Given the description of an element on the screen output the (x, y) to click on. 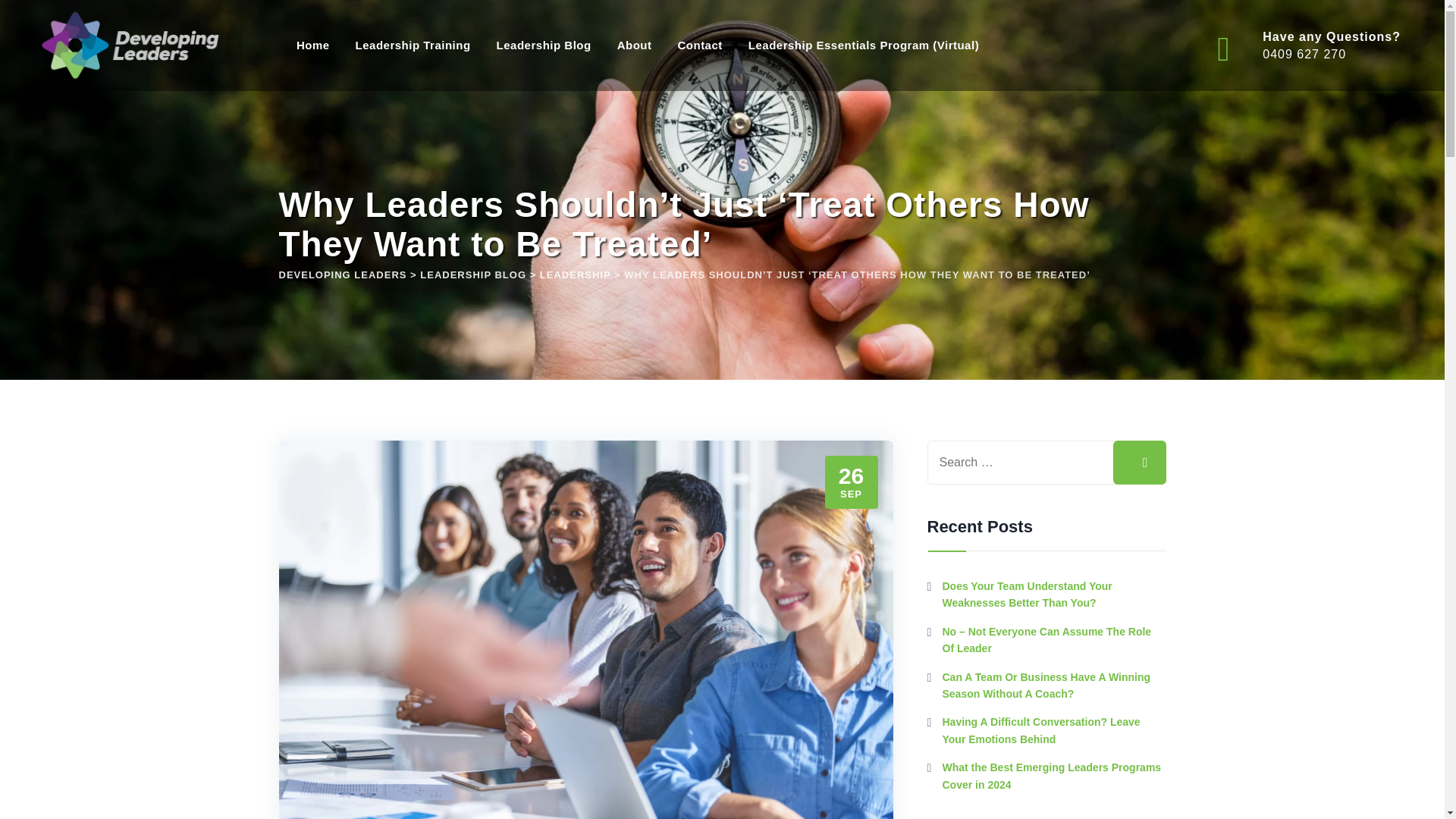
Leadership Training (412, 45)
Go to the Leadership Category archives. (575, 274)
Go to Developing Leaders. (343, 274)
Go to Leadership Blog. (472, 274)
Developing Leaders (1311, 45)
Leadership Blog (129, 45)
